Given the description of an element on the screen output the (x, y) to click on. 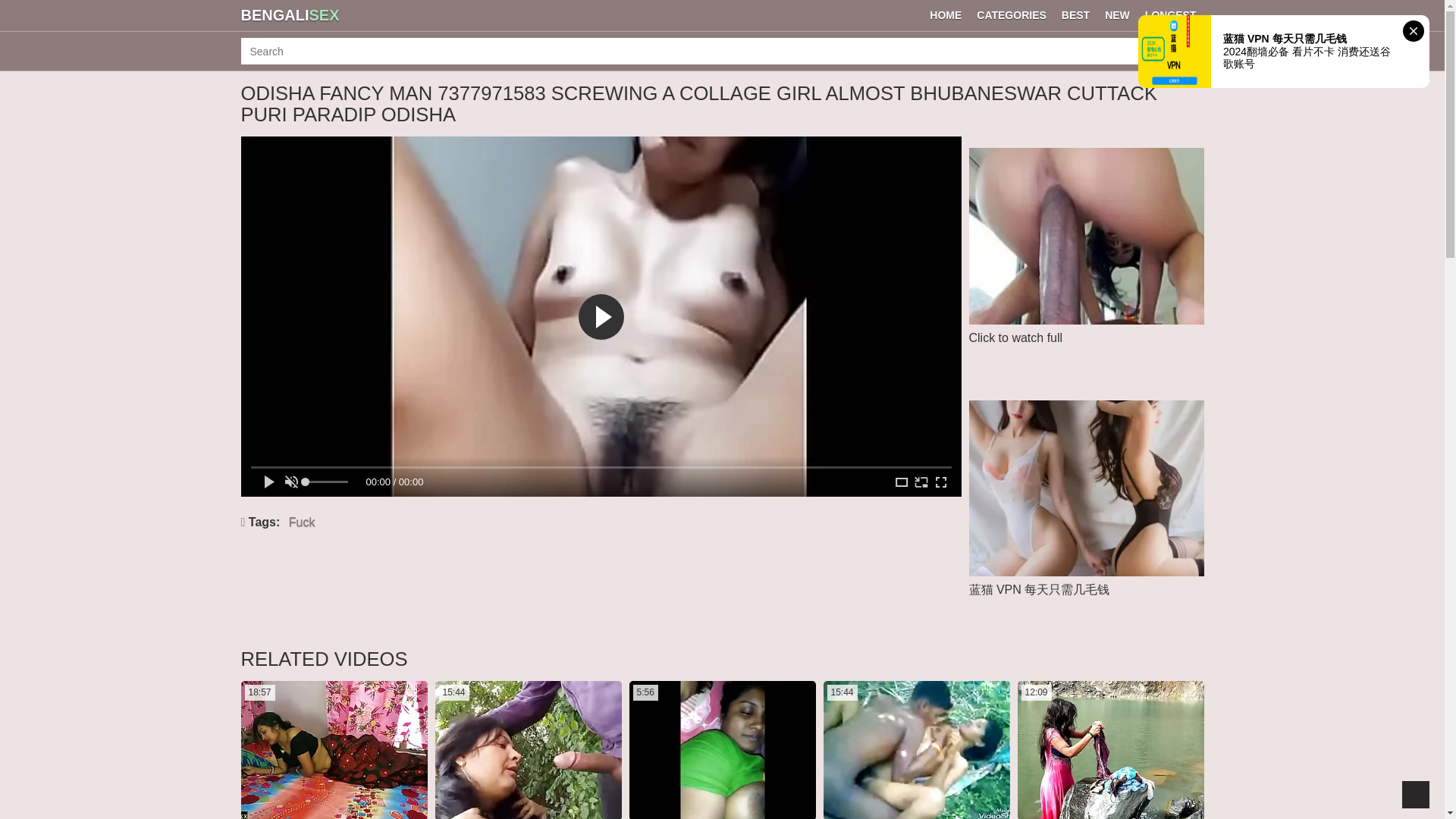
CATEGORIES (1011, 15)
LONGEST (1170, 15)
For searching please use latin letters (707, 50)
BEST (1075, 15)
HOME (945, 15)
Fuck (301, 522)
Click to watch full (1086, 270)
NEW (1117, 15)
Search (1188, 50)
BENGALISEX (290, 14)
